Given the description of an element on the screen output the (x, y) to click on. 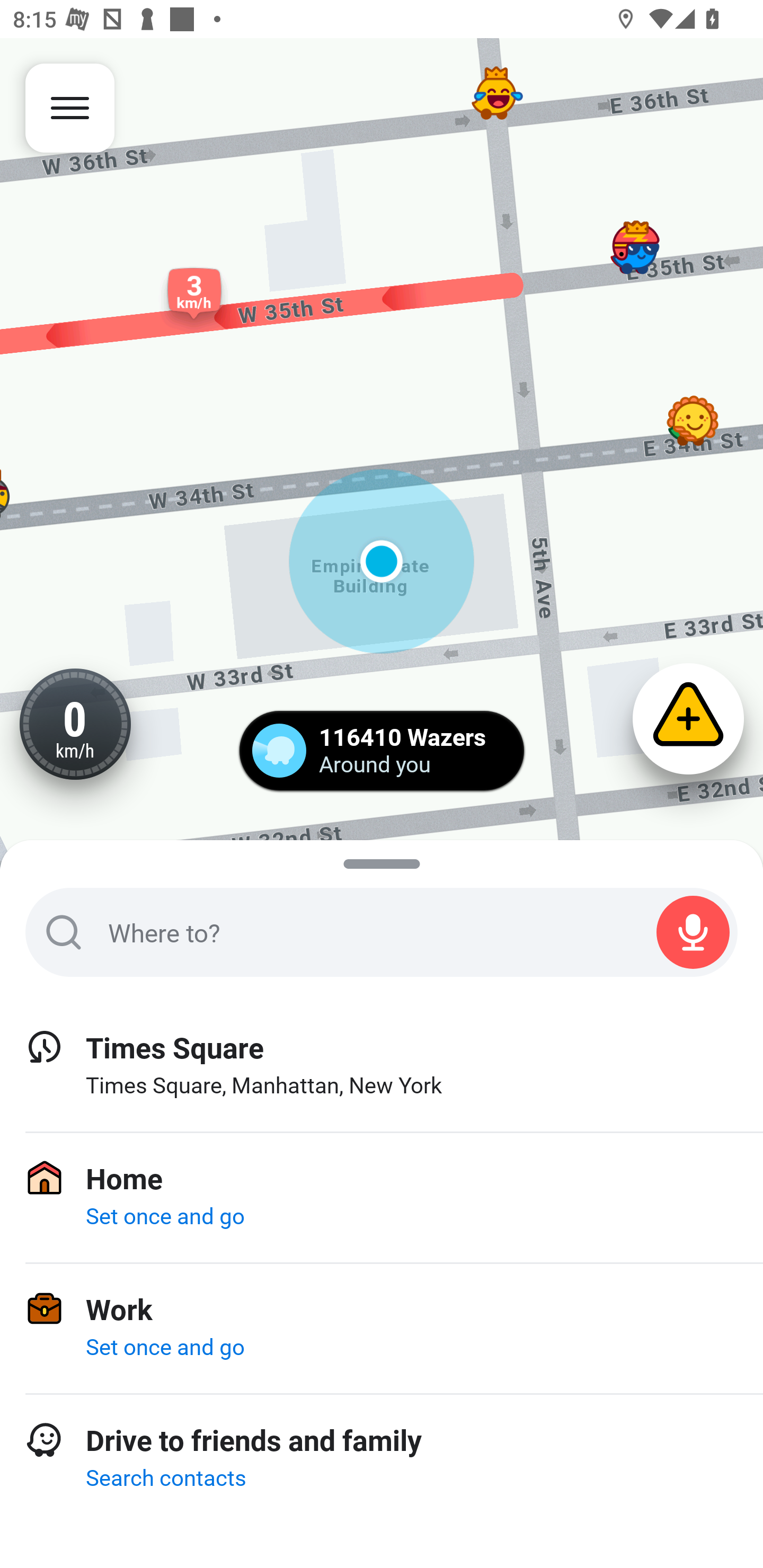
START_STATE_SEARCH_FIELD Where to? (381, 931)
Times Square Times Square, Manhattan, New York (381, 1066)
Home Set once and go (381, 1197)
Work Set once and go (381, 1328)
Drive to friends and family Search contacts (381, 1459)
